Given the description of an element on the screen output the (x, y) to click on. 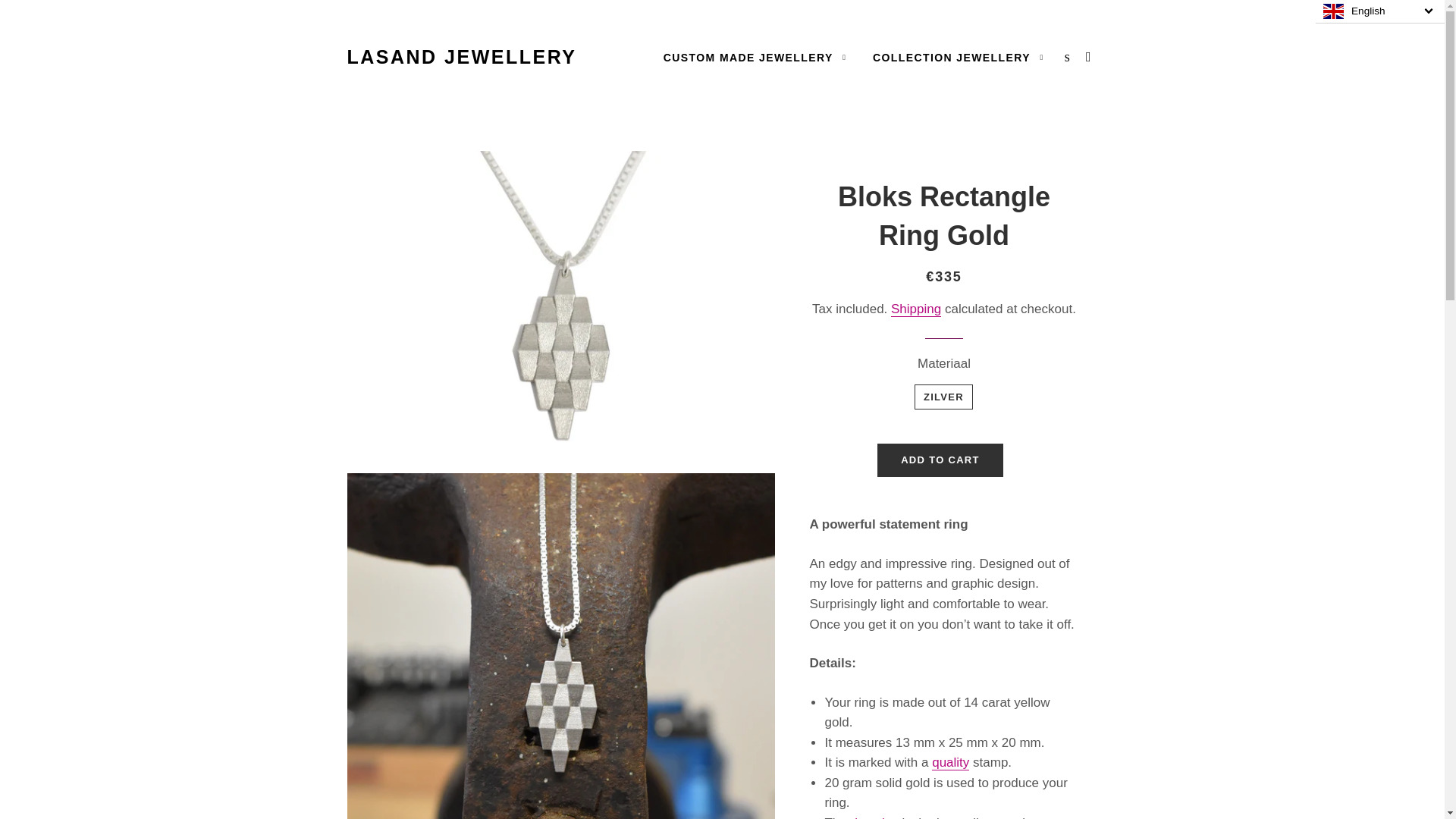
Ring sizes (874, 817)
Quality (950, 762)
LASAND JEWELLERY (461, 57)
CUSTOM MADE JEWELLERY (754, 57)
